Given the description of an element on the screen output the (x, y) to click on. 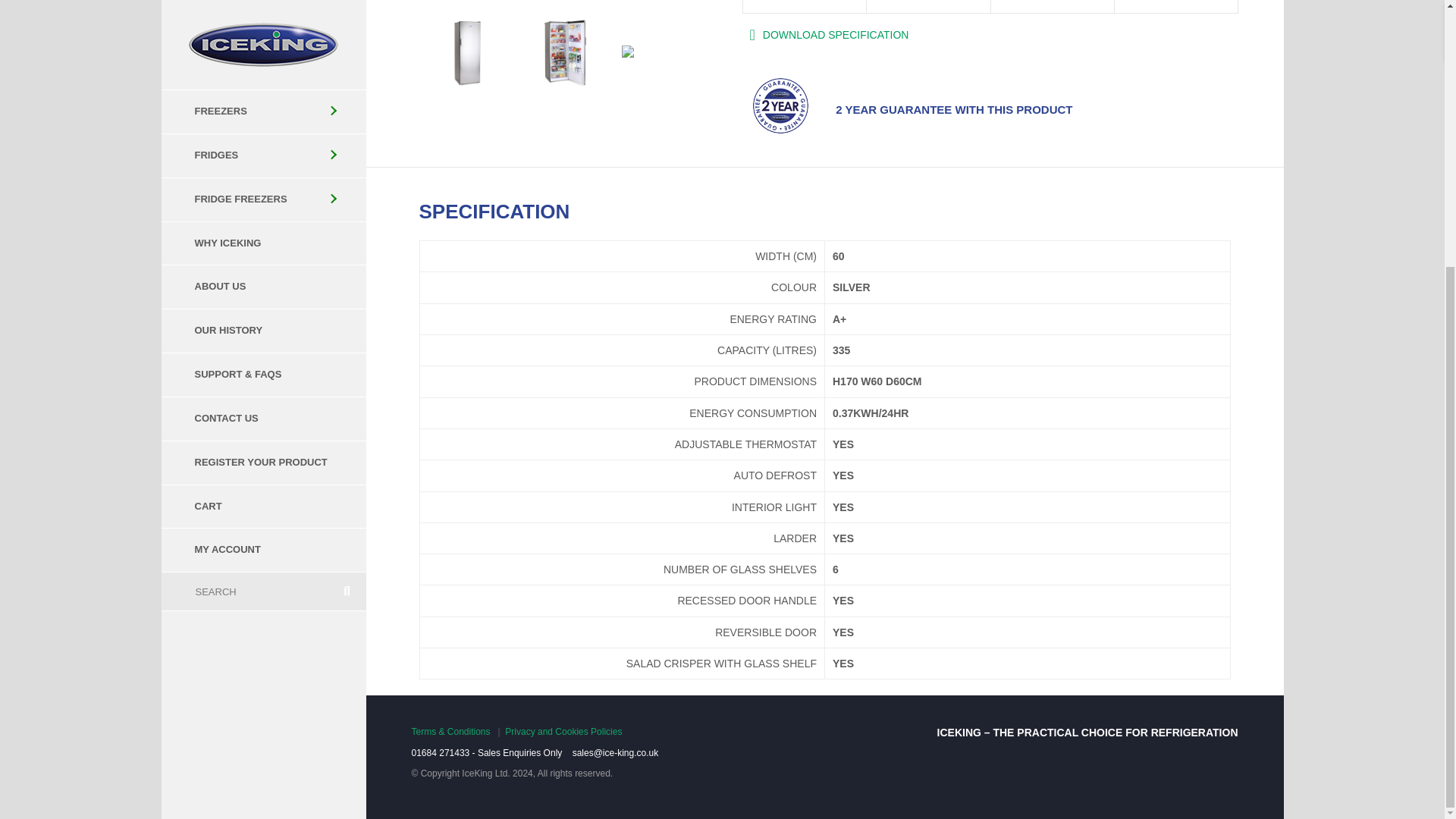
2year (779, 105)
MY ACCOUNT (262, 162)
Search (243, 204)
REGISTER YOUR PRODUCT (262, 76)
CART (262, 120)
CONTACT US (262, 31)
